Given the description of an element on the screen output the (x, y) to click on. 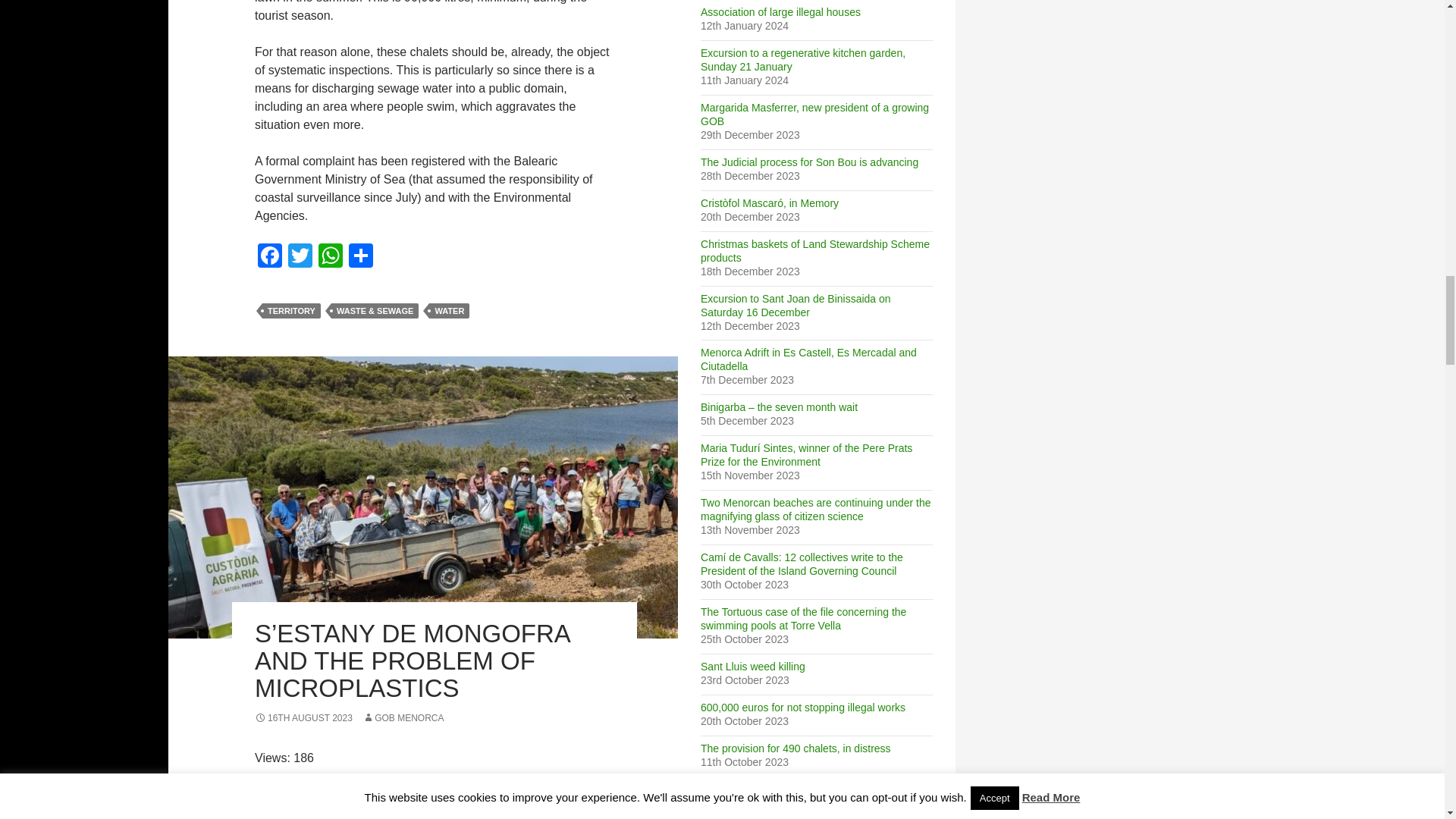
Twitter (300, 257)
WhatsApp (330, 257)
Facebook (269, 257)
